Given the description of an element on the screen output the (x, y) to click on. 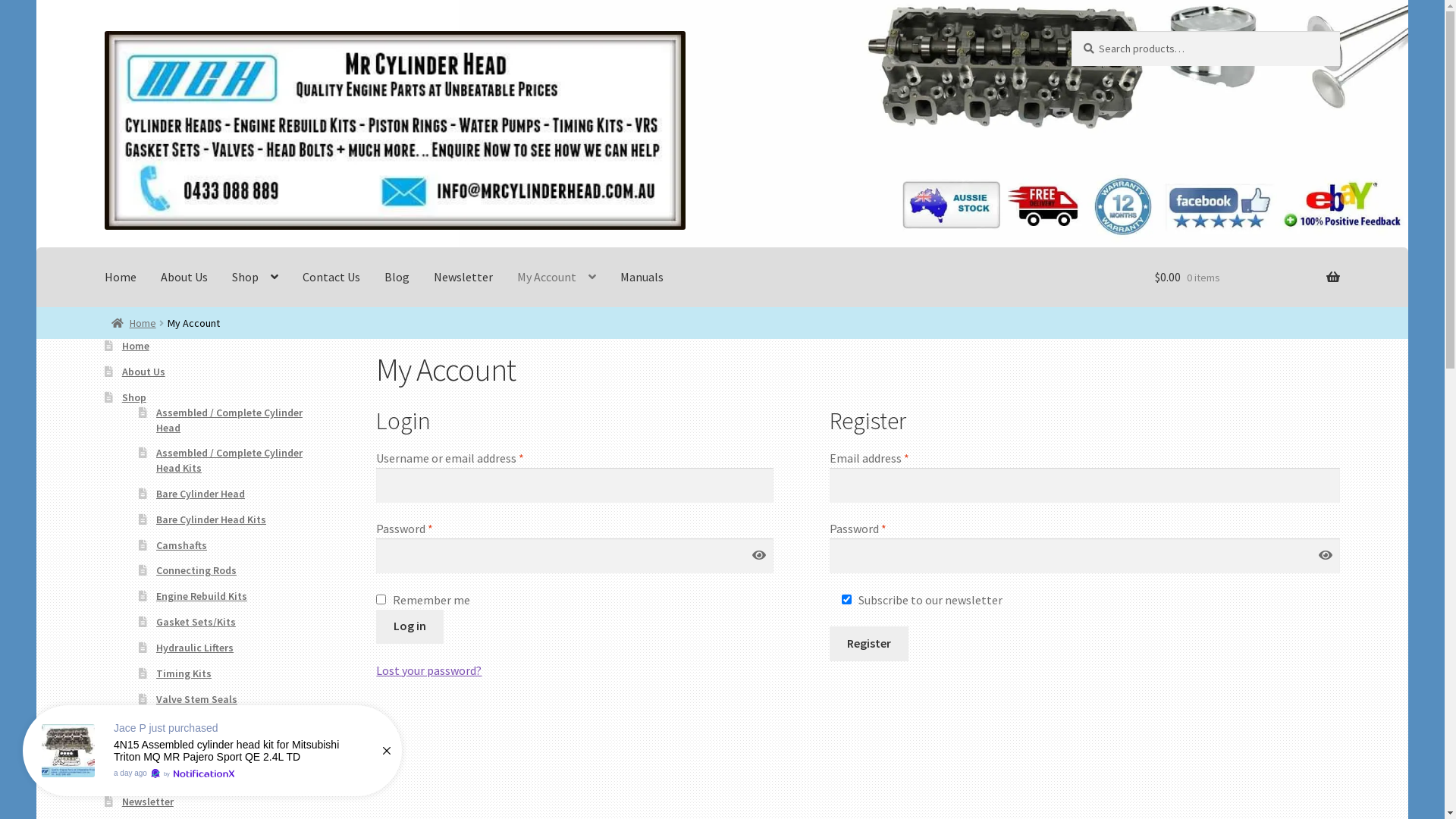
Shop Element type: text (134, 397)
About Us Element type: text (143, 371)
Engine Rebuild Kits Element type: text (201, 595)
Connecting Rods Element type: text (196, 570)
Lost your password? Element type: text (428, 669)
Search Element type: text (1070, 30)
Register Element type: text (868, 643)
Contact Us Element type: text (148, 749)
Assembled / Complete Cylinder Head Kits Element type: text (229, 459)
Bare Cylinder Head Element type: text (200, 493)
Home Element type: text (135, 345)
Blog Element type: text (132, 775)
Camshafts Element type: text (181, 545)
Assembled / Complete Cylinder Head Element type: text (229, 419)
$0.00 0 items Element type: text (1246, 277)
Bare Cylinder Head Kits Element type: text (211, 519)
Gasket Sets/Kits Element type: text (195, 621)
Newsletter Element type: text (147, 801)
Hydraulic Lifters Element type: text (194, 647)
Timing Kits Element type: text (183, 673)
Water Pumps Element type: text (187, 724)
My Account Element type: text (556, 276)
Contact Us Element type: text (331, 276)
About Us Element type: text (183, 276)
Newsletter Element type: text (463, 276)
Log in Element type: text (409, 626)
Valve Stem Seals Element type: text (196, 699)
Home Element type: text (133, 322)
Skip to navigation Element type: text (103, 30)
Home Element type: text (120, 276)
Manuals Element type: text (641, 276)
Blog Element type: text (396, 276)
Shop Element type: text (254, 276)
